Given the description of an element on the screen output the (x, y) to click on. 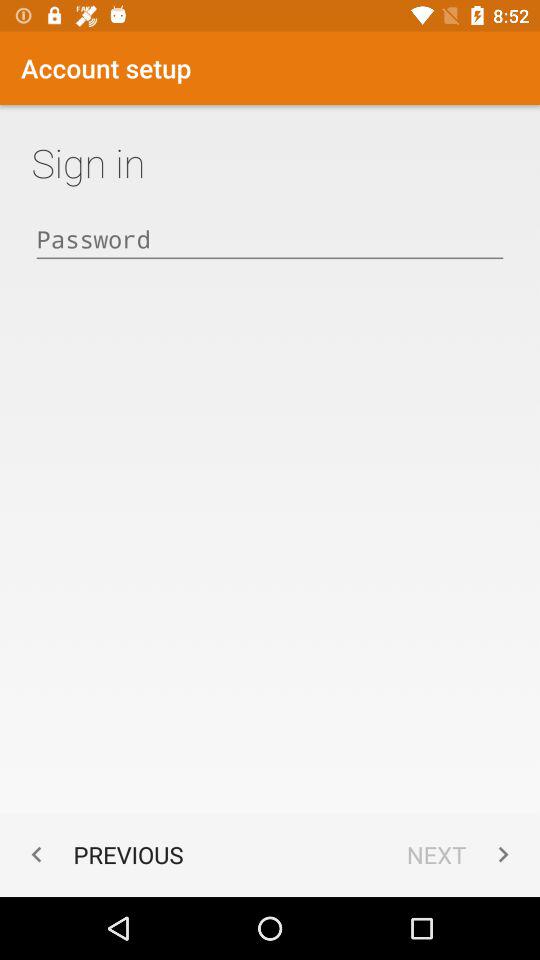
launch icon to the left of the next item (102, 854)
